Given the description of an element on the screen output the (x, y) to click on. 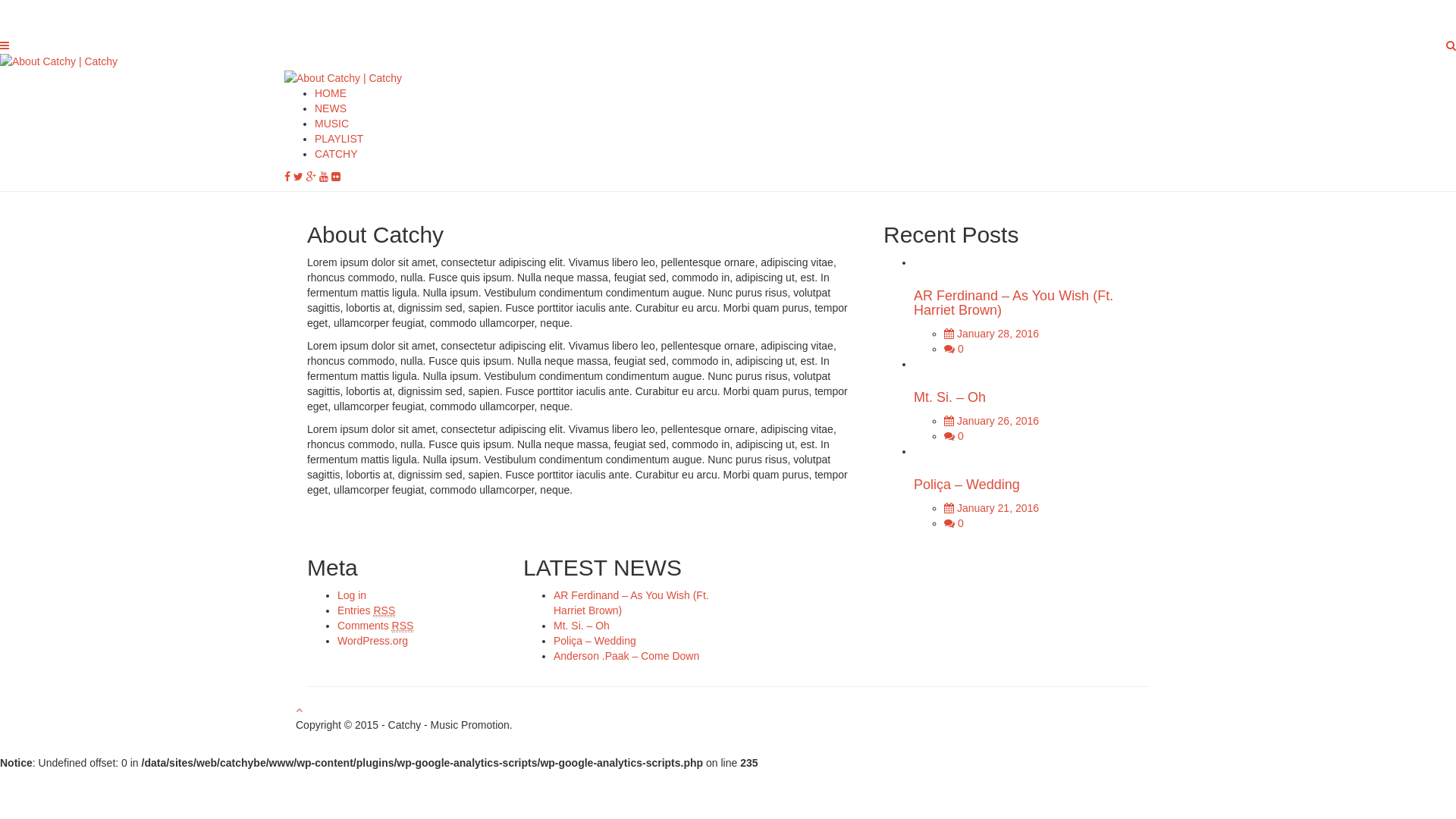
NEWS Element type: text (330, 108)
0 Element type: text (953, 435)
January 26, 2016 Element type: text (991, 420)
Entries RSS Element type: text (366, 610)
PLAYLIST Element type: text (338, 138)
Log in Element type: text (351, 595)
0 Element type: text (953, 348)
January 21, 2016 Element type: text (991, 508)
HOME Element type: text (330, 93)
Comments RSS Element type: text (375, 625)
MUSIC Element type: text (331, 123)
WordPress.org Element type: text (372, 640)
January 28, 2016 Element type: text (991, 333)
CATCHY Element type: text (335, 153)
0 Element type: text (953, 523)
